Given the description of an element on the screen output the (x, y) to click on. 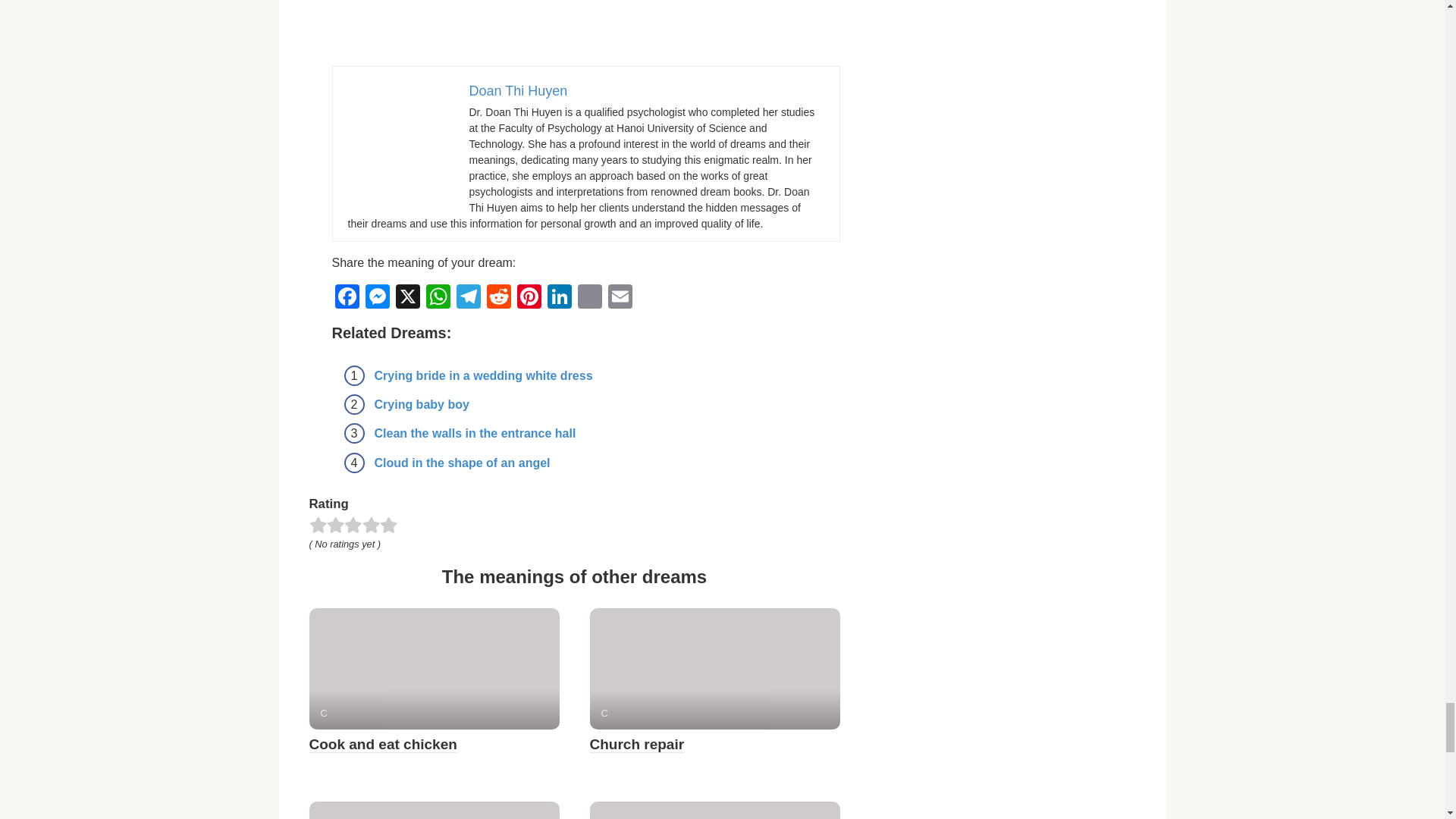
Crying baby boy (421, 404)
Telegram (467, 298)
Clean the walls in the entrance hall (475, 432)
X (408, 298)
Facebook (346, 298)
LinkedIn (559, 298)
Pinterest (528, 298)
Reddit (498, 298)
Crying bride in a wedding white dress (483, 375)
Email (619, 298)
Cloud in the shape of an angel (462, 462)
WhatsApp (437, 298)
Messenger (377, 298)
Copy Link (590, 298)
